Given the description of an element on the screen output the (x, y) to click on. 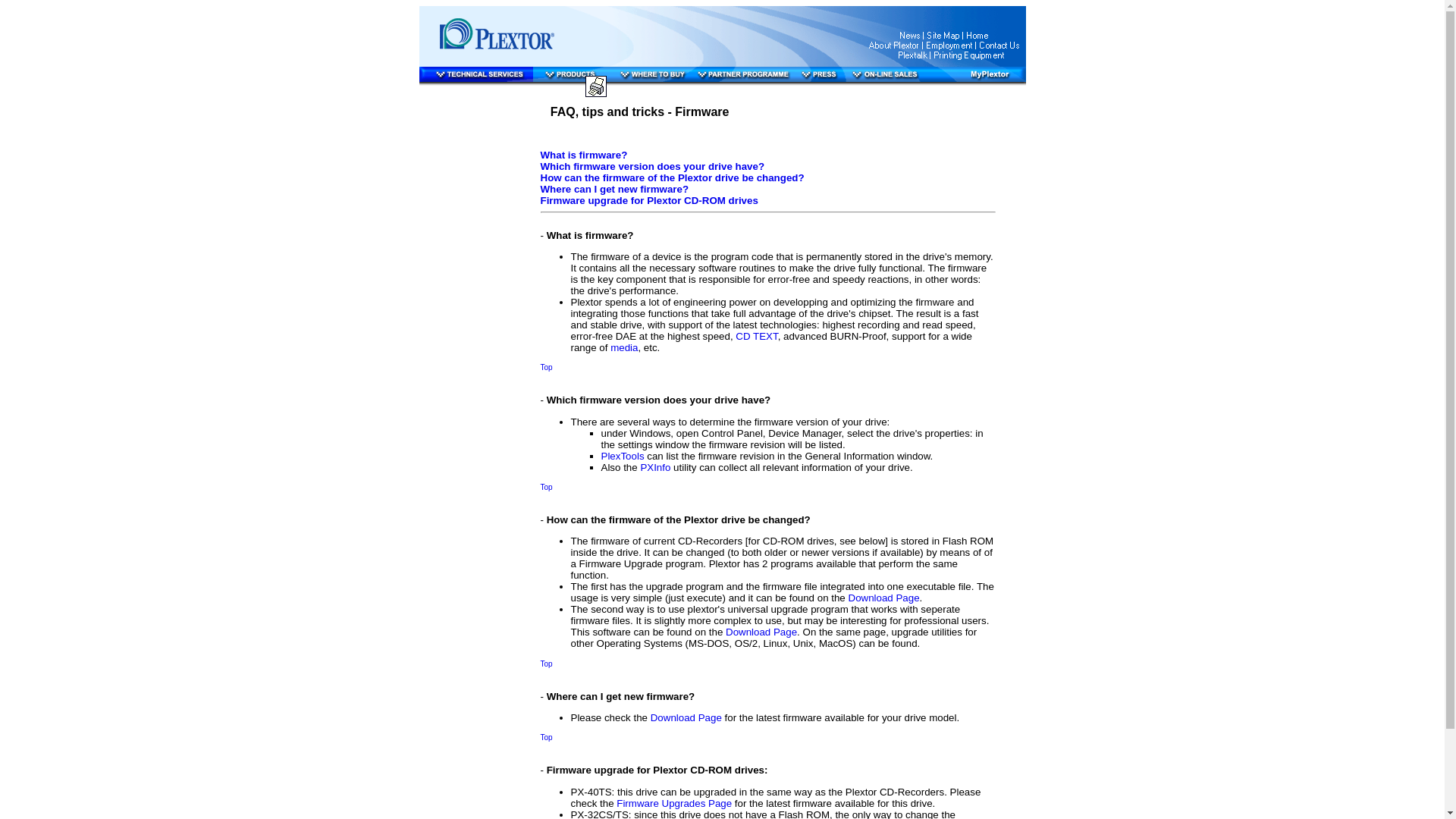
How can the firmware of the Plextor drive be changed? (671, 177)
Top (545, 366)
What is firmware? (583, 154)
Download Page (686, 717)
Top (545, 736)
PlexTools (621, 455)
Firmware Upgrades Page (673, 803)
Firmware upgrade for Plextor CD-ROM drives (648, 200)
Download Page (760, 632)
Top (545, 486)
Which firmware version does your drive have? (652, 165)
Where can I get new firmware? (614, 188)
Top (545, 663)
media (623, 347)
CD TEXT (756, 336)
